Given the description of an element on the screen output the (x, y) to click on. 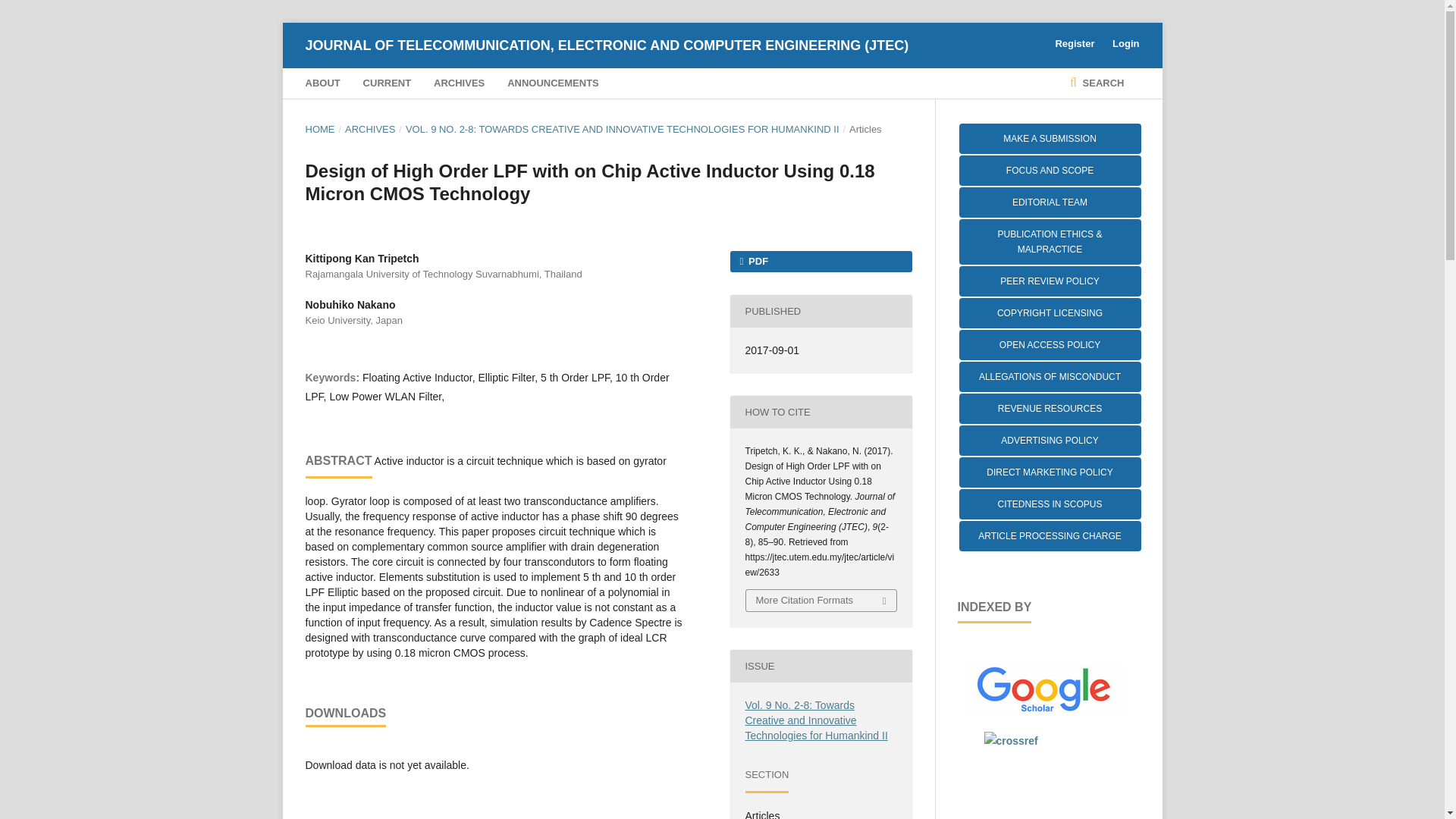
Crossref (1011, 740)
ABOUT (321, 82)
Login (1121, 43)
Register (1074, 43)
ARCHIVES (369, 129)
More Citation Formats (820, 599)
ARCHIVES (458, 82)
ANNOUNCEMENTS (552, 82)
Google Scholar - JTEC (1047, 711)
HOME (319, 129)
